Given the description of an element on the screen output the (x, y) to click on. 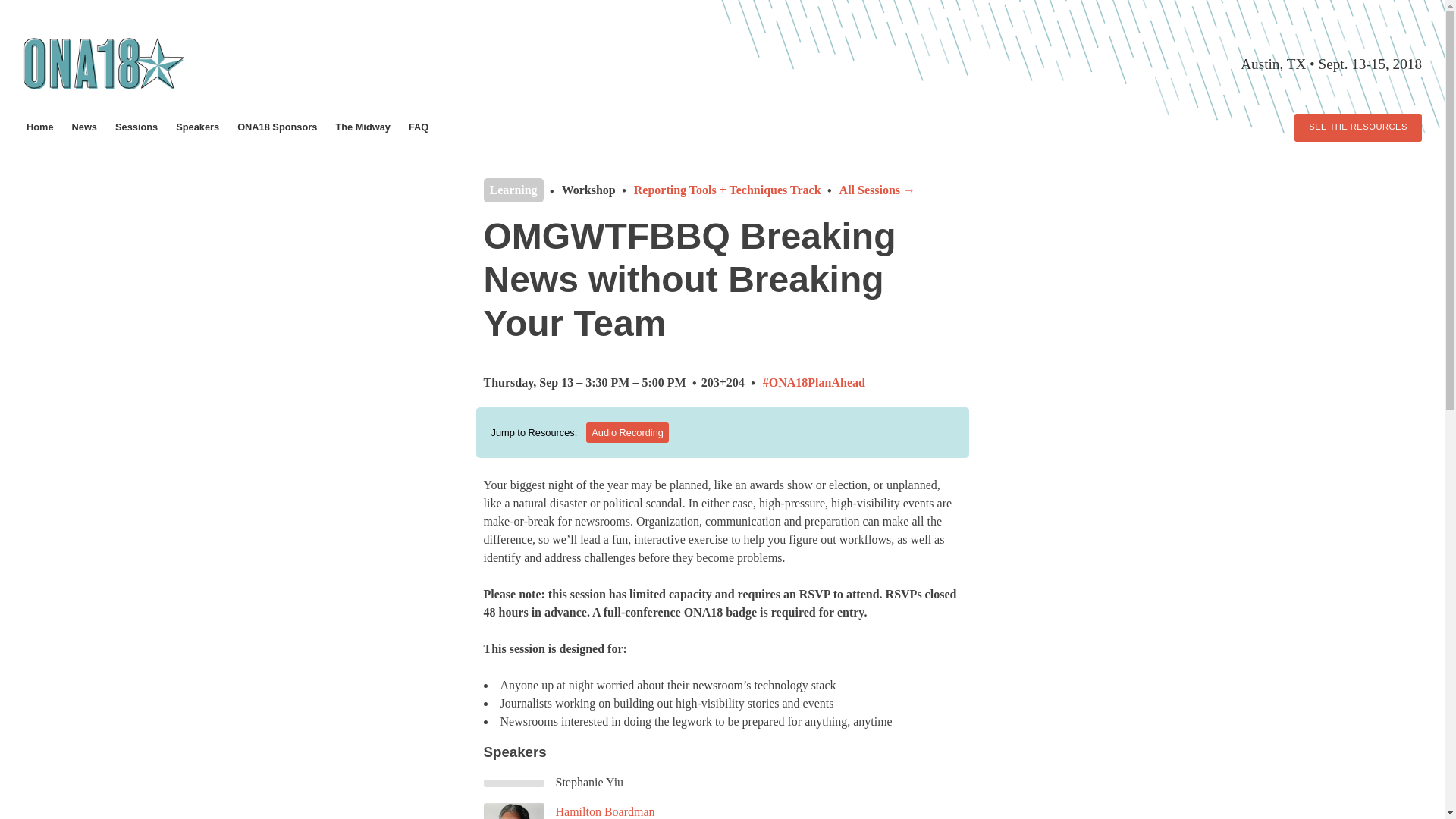
News (84, 126)
Home (40, 126)
Audio Recording (627, 432)
The Midway (362, 126)
SEE THE RESOURCES (1358, 127)
Speakers (196, 126)
ONA18 Sponsors (276, 126)
Sessions (136, 126)
Hamilton Boardman (603, 811)
